Given the description of an element on the screen output the (x, y) to click on. 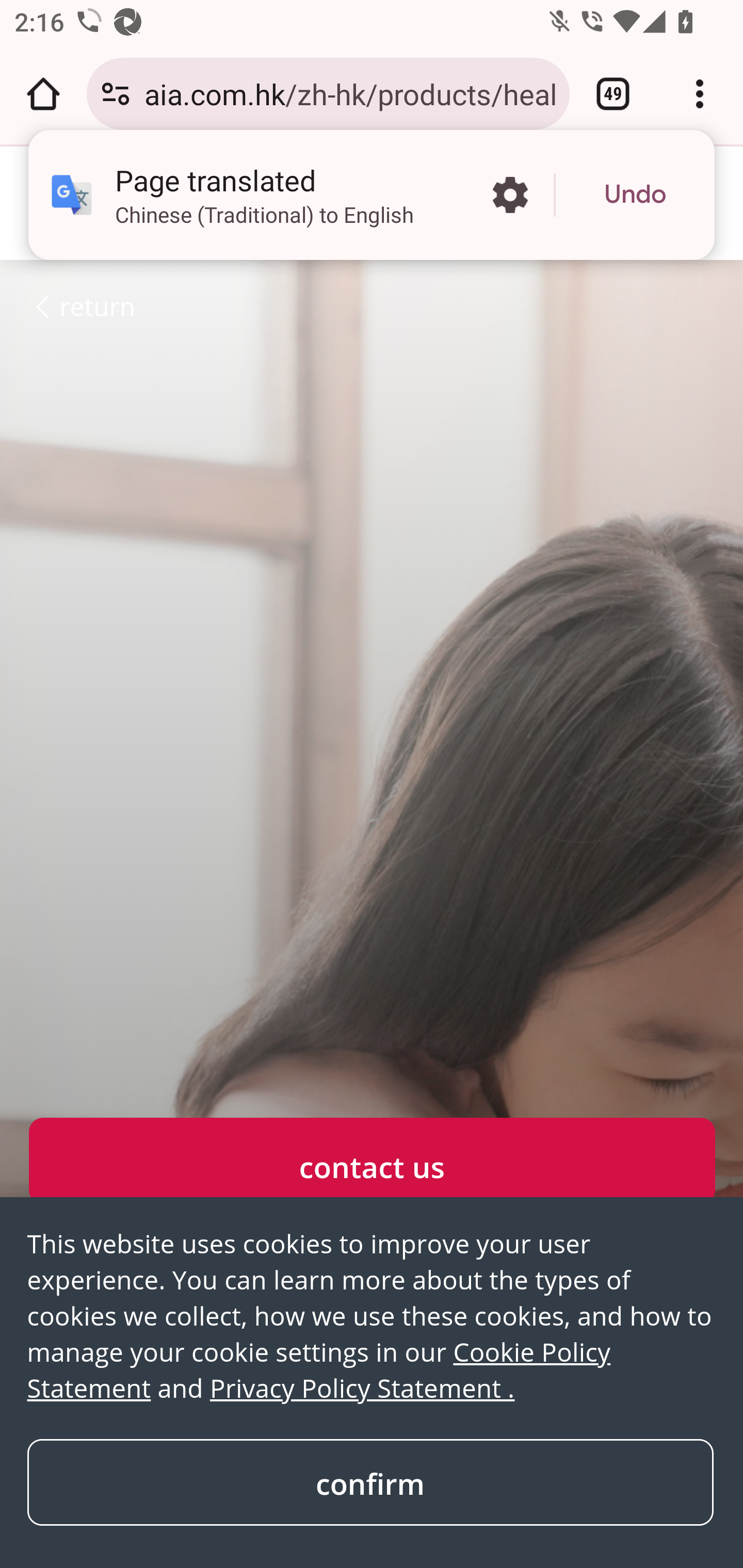
Open the home page (43, 93)
Connection is secure (115, 93)
Switch or close tabs (612, 93)
Customize and control Google Chrome (699, 93)
Undo (634, 195)
More options in the Page translated (509, 195)
zh-hk (73, 202)
